Given the description of an element on the screen output the (x, y) to click on. 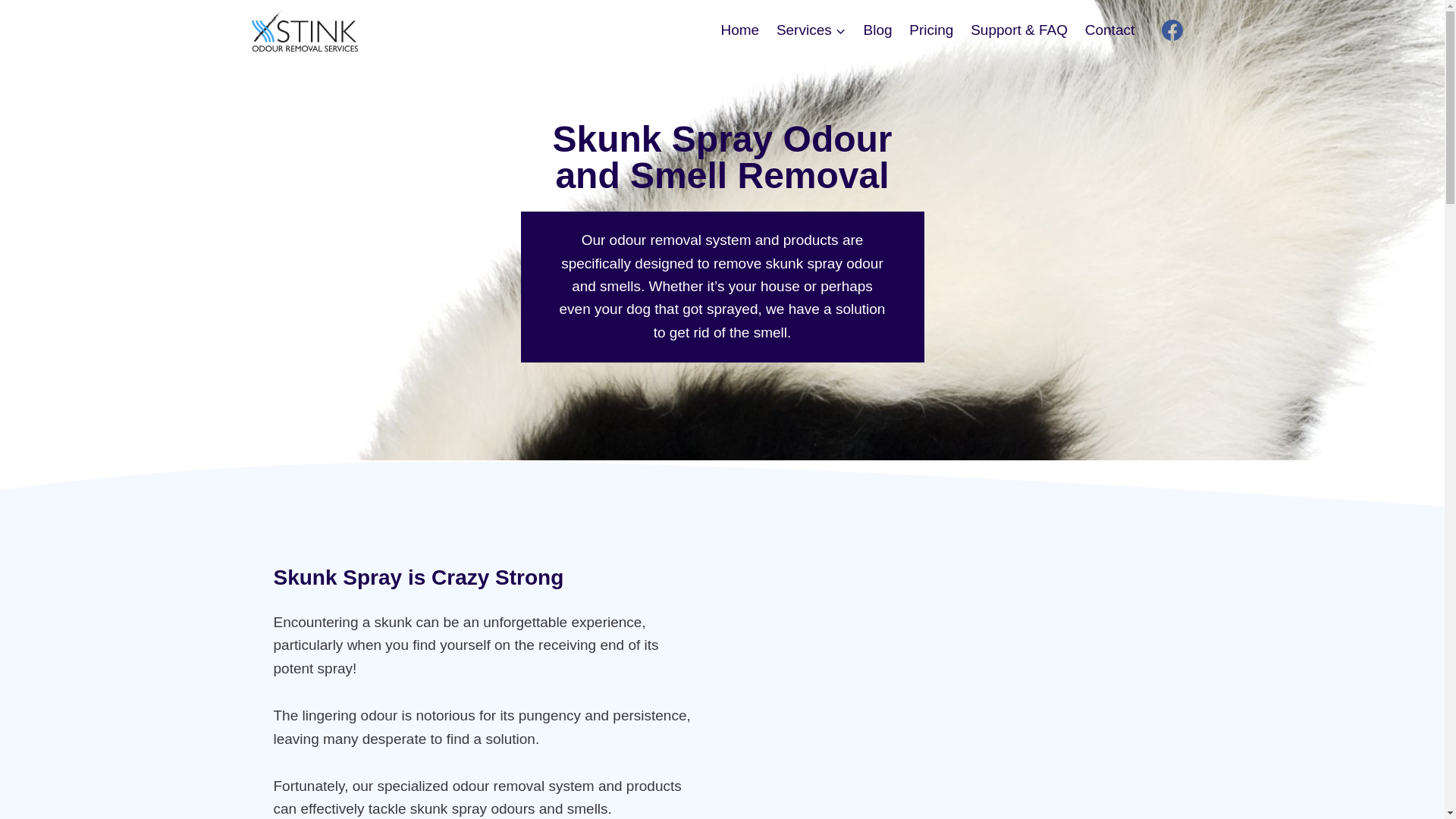
Home (739, 29)
Blog (877, 29)
Services (810, 29)
Pricing (931, 29)
Contact (1108, 29)
Indoor Skunk Odor Removed (955, 684)
